Given the description of an element on the screen output the (x, y) to click on. 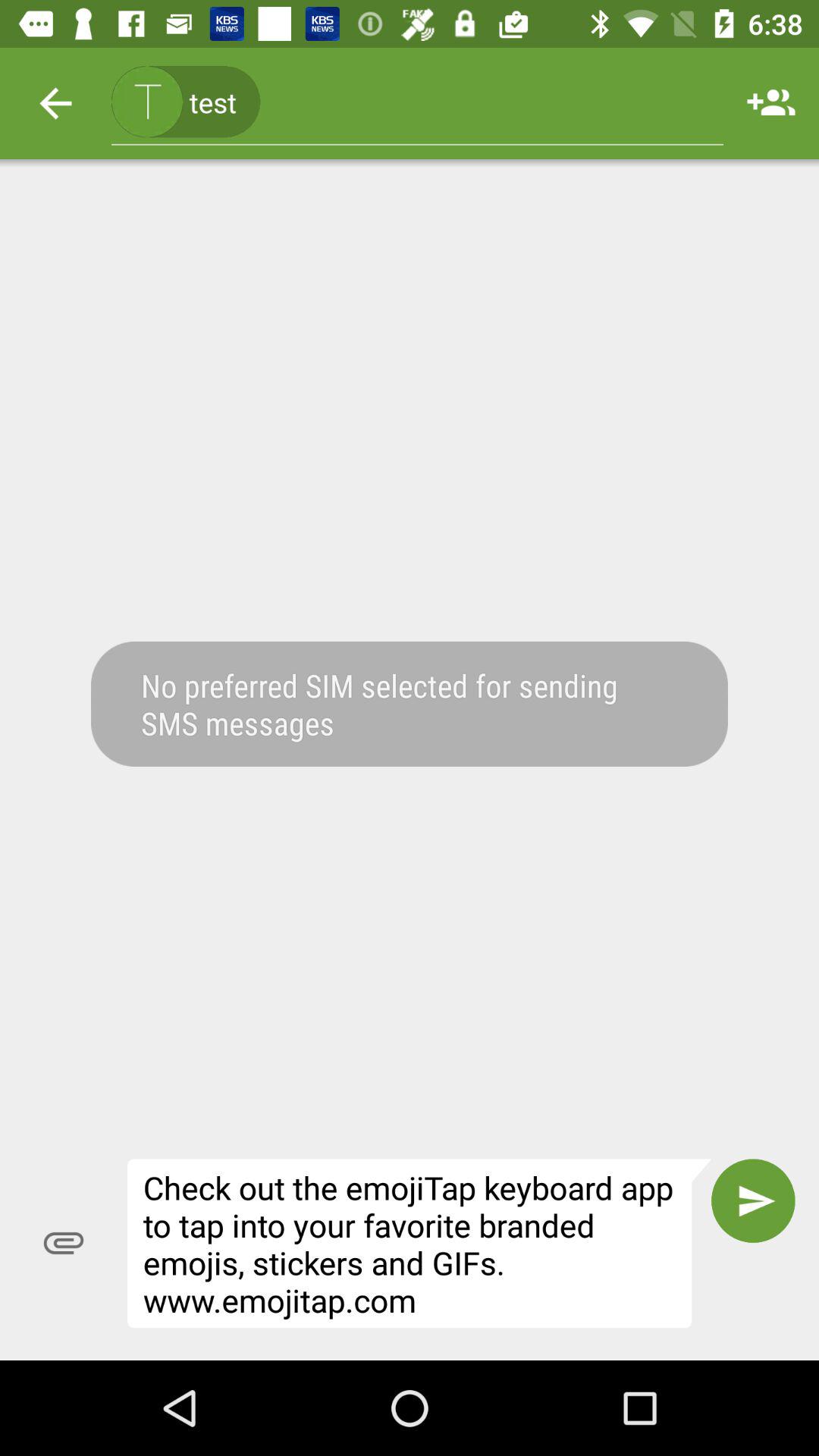
press the icon next to check out the icon (63, 1243)
